Given the description of an element on the screen output the (x, y) to click on. 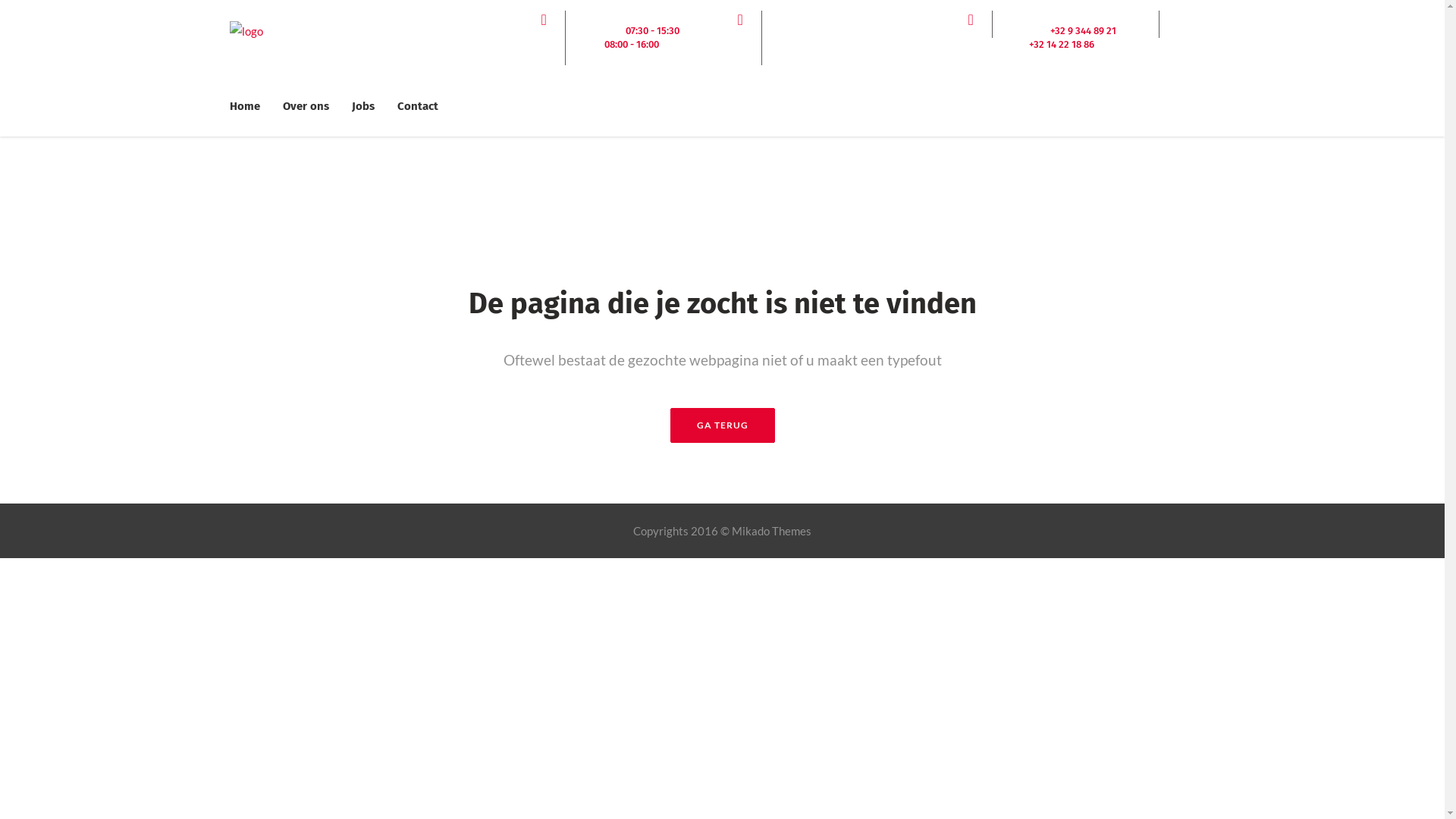
Over ons Element type: text (305, 105)
Jobs Element type: text (362, 105)
Contact Element type: text (416, 105)
GA TERUG Element type: text (722, 424)
Home Element type: text (249, 105)
